Given the description of an element on the screen output the (x, y) to click on. 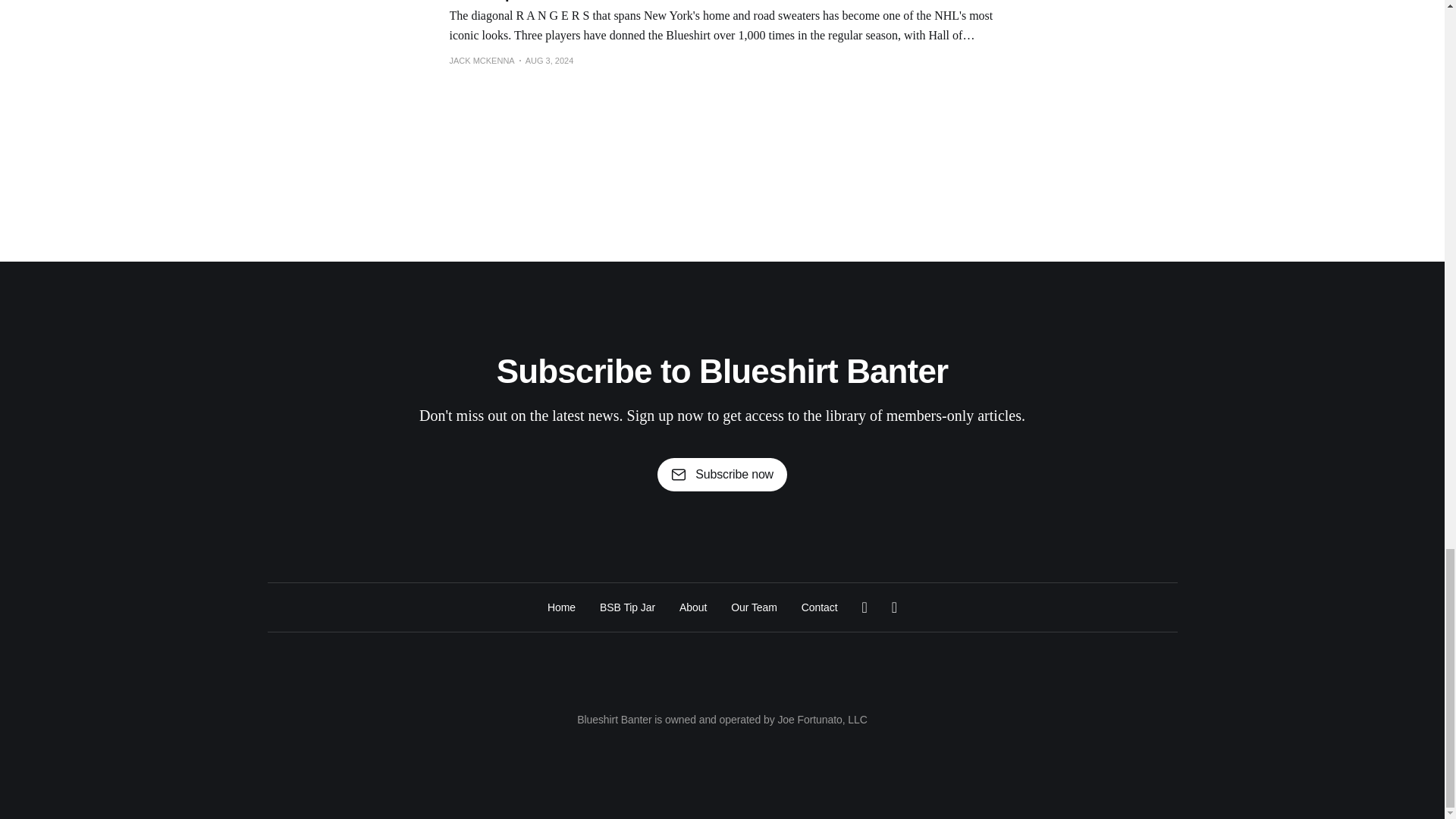
Home (561, 606)
Our Team (753, 606)
BSB Tip Jar (627, 606)
About (692, 606)
Contact (820, 606)
Subscribe now (722, 474)
